Given the description of an element on the screen output the (x, y) to click on. 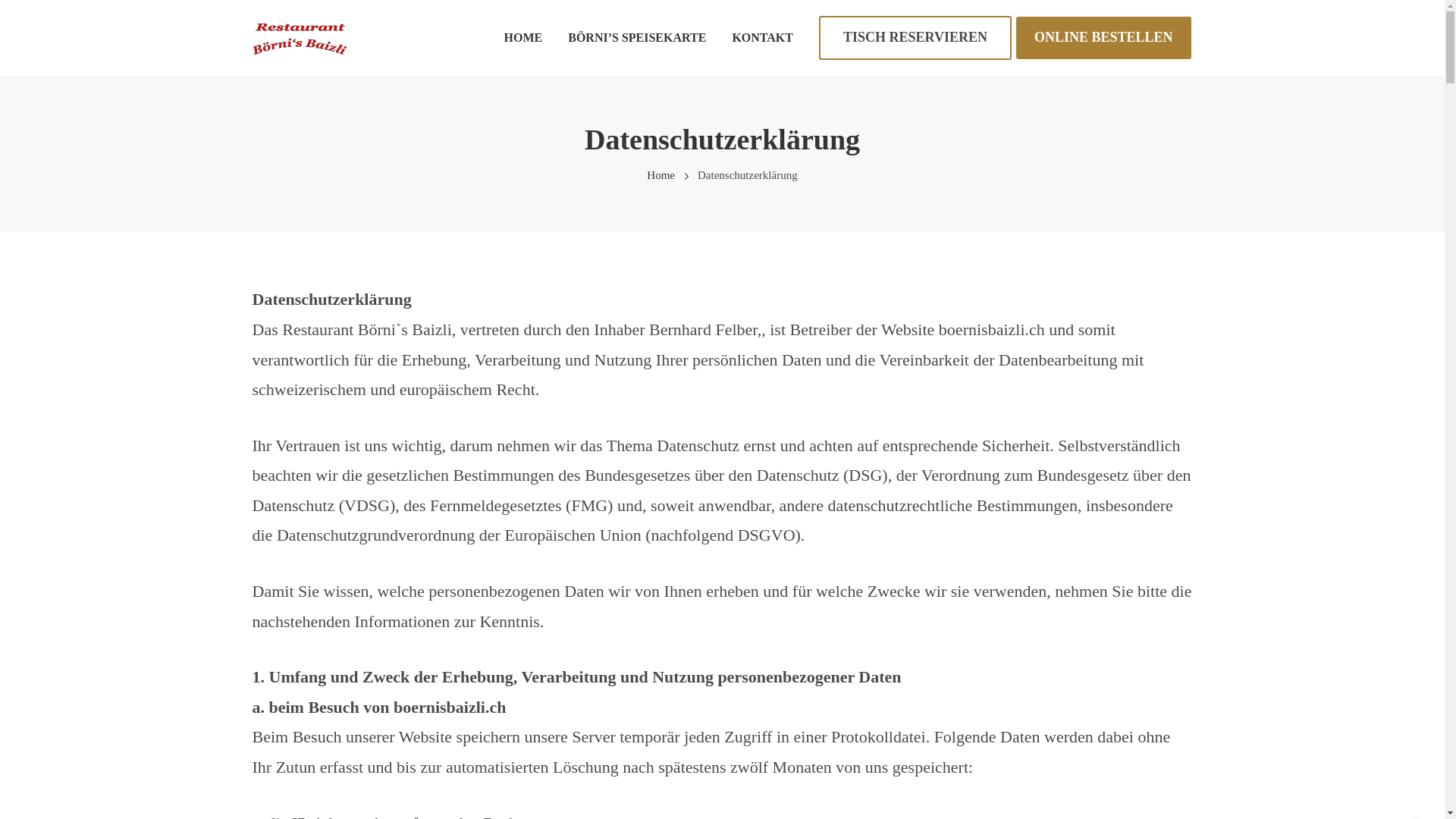
HOME Element type: text (523, 37)
Home Element type: text (660, 175)
TISCH RESERVIEREN Element type: text (915, 37)
KONTAKT Element type: text (762, 37)
